Given the description of an element on the screen output the (x, y) to click on. 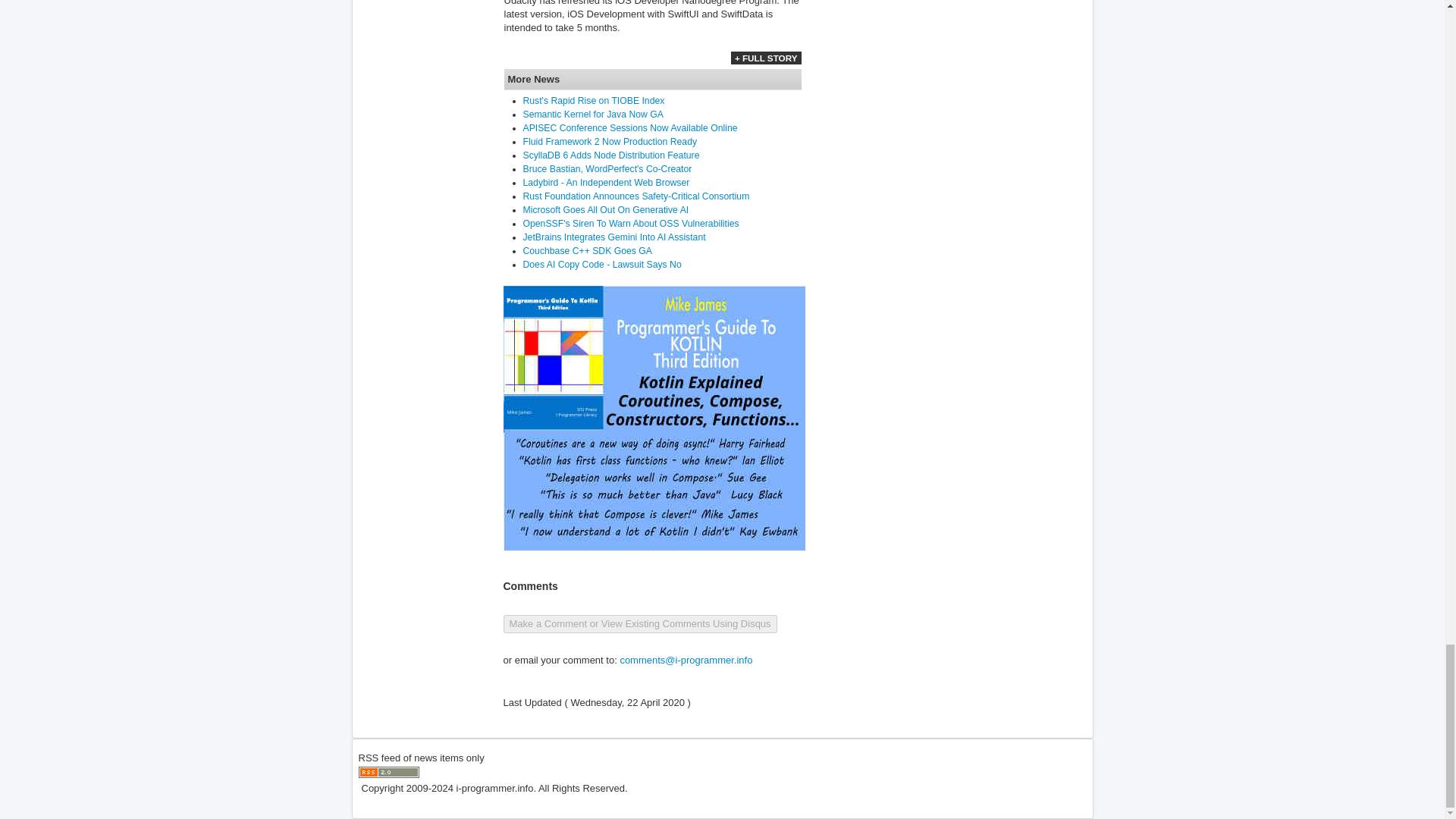
I Programmer News (388, 772)
